Given the description of an element on the screen output the (x, y) to click on. 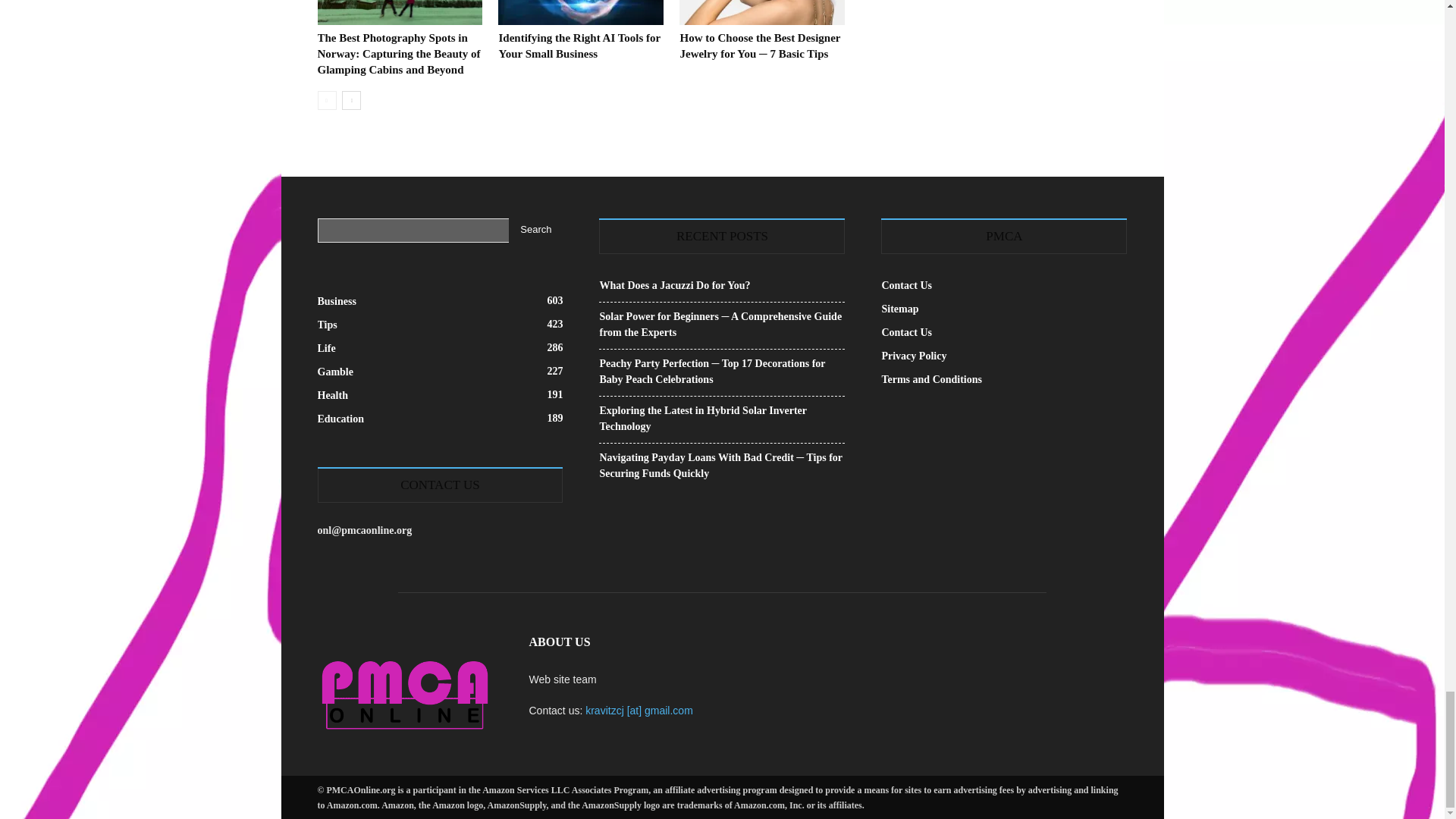
Search (535, 230)
